Given the description of an element on the screen output the (x, y) to click on. 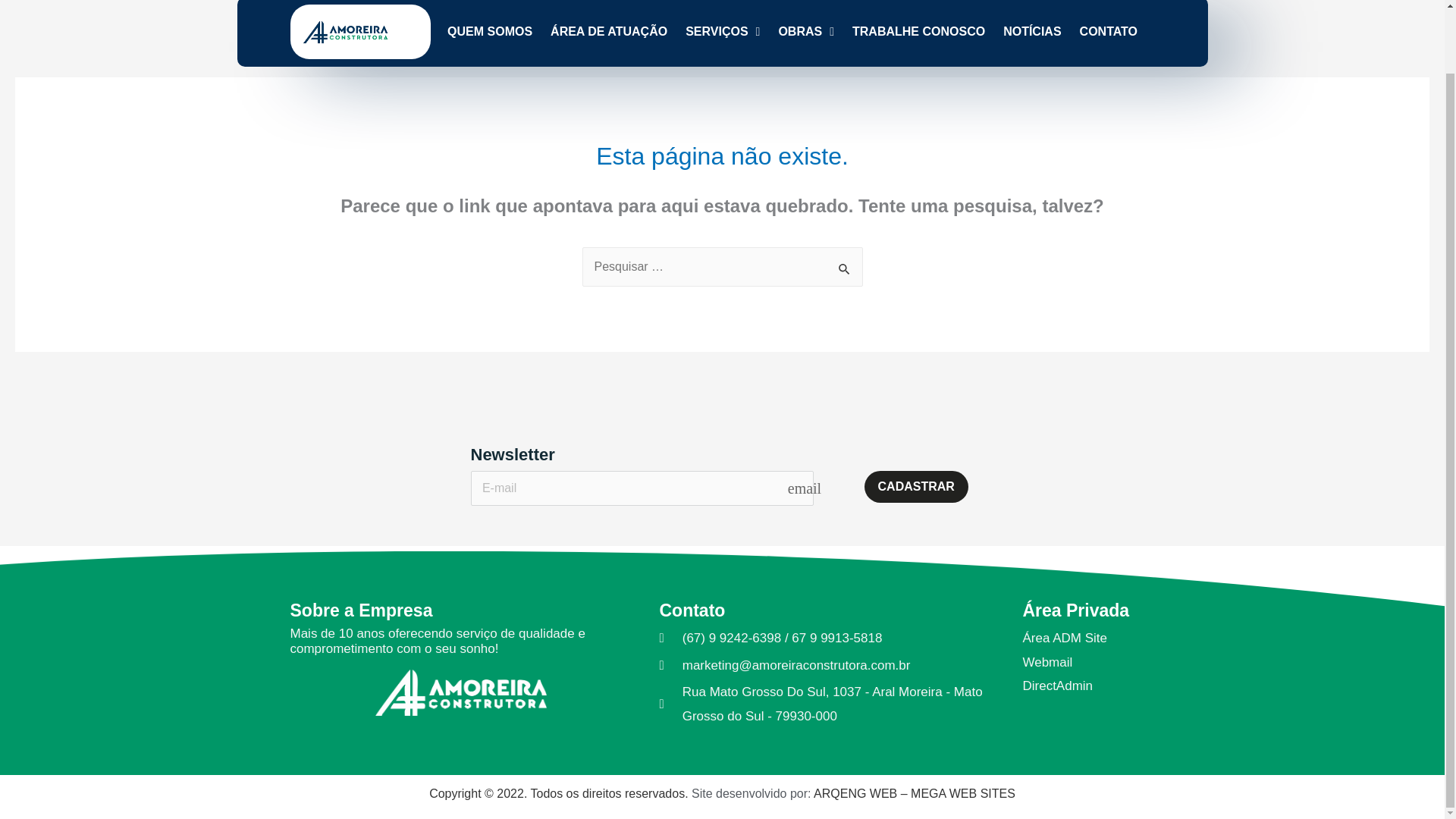
QUEM SOMOS (489, 31)
OBRAS (805, 31)
CONTATO (1108, 31)
TRABALHE CONOSCO (918, 31)
